Given the description of an element on the screen output the (x, y) to click on. 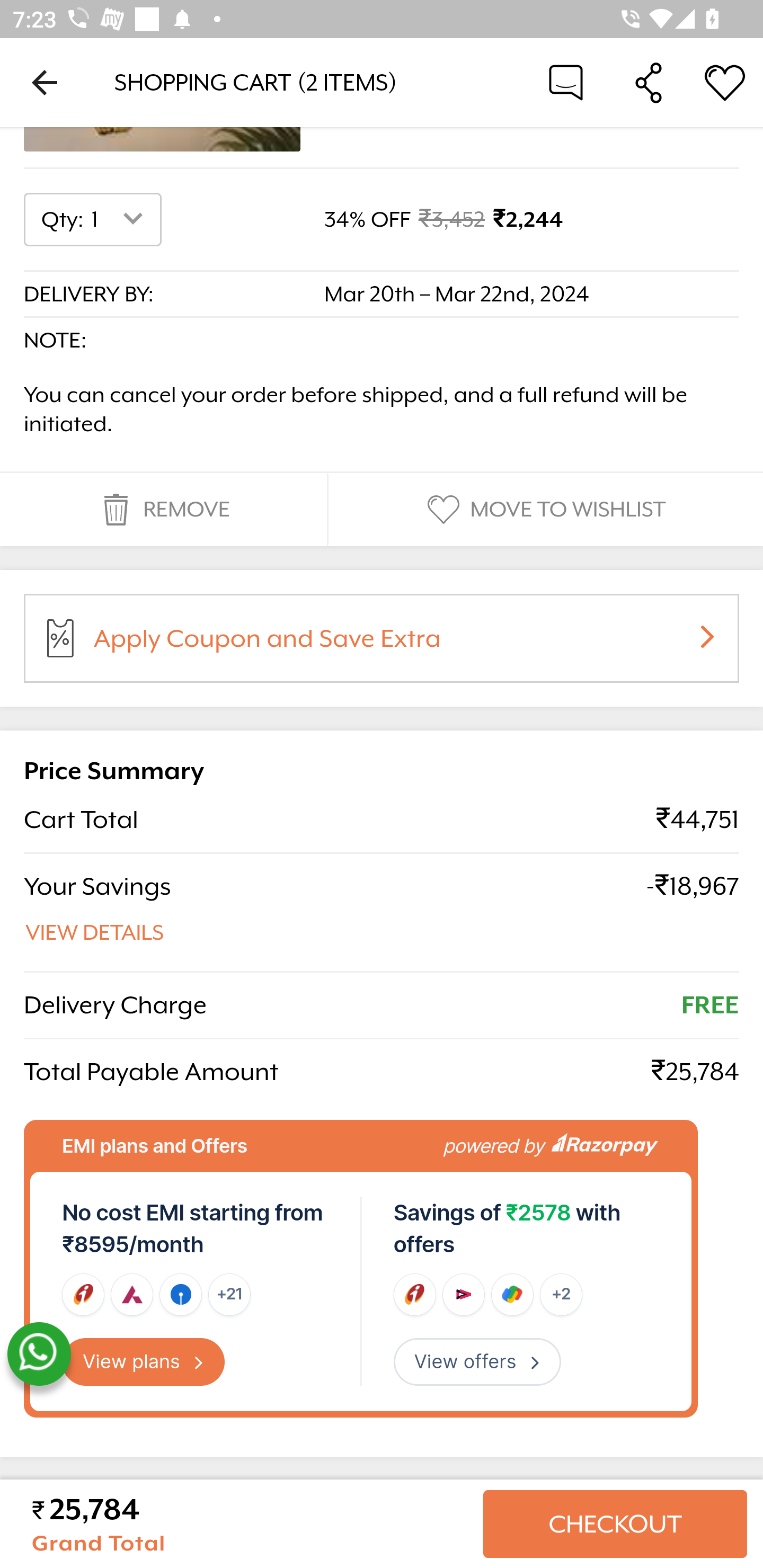
Navigate up (44, 82)
Chat (565, 81)
Share Cart (648, 81)
Wishlist (724, 81)
1 (121, 220)
REMOVE (163, 509)
MOVE TO WISHLIST (544, 509)
Apply Coupon and Save Extra (402, 644)
VIEW DETAILS (95, 933)
whatsapp (38, 1354)
View plans (143, 1362)
View offers (476, 1362)
₹ 25,784 Grand Total (250, 1523)
CHECKOUT (614, 1523)
